Given the description of an element on the screen output the (x, y) to click on. 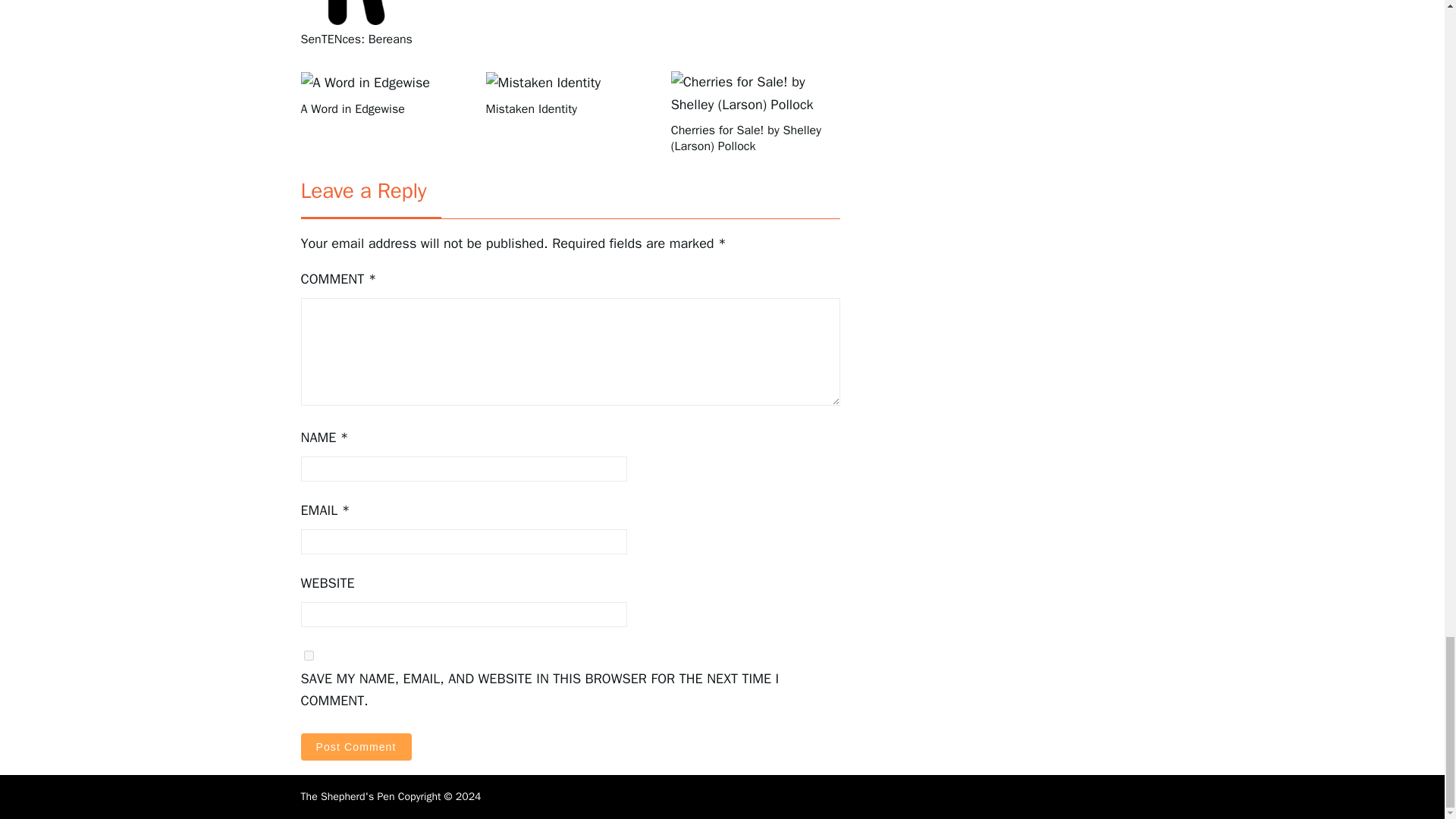
yes (307, 655)
Mistaken Identity (570, 109)
SenTENces: Bereans (383, 39)
A Word in Edgewise (383, 109)
Post Comment (354, 746)
